Given the description of an element on the screen output the (x, y) to click on. 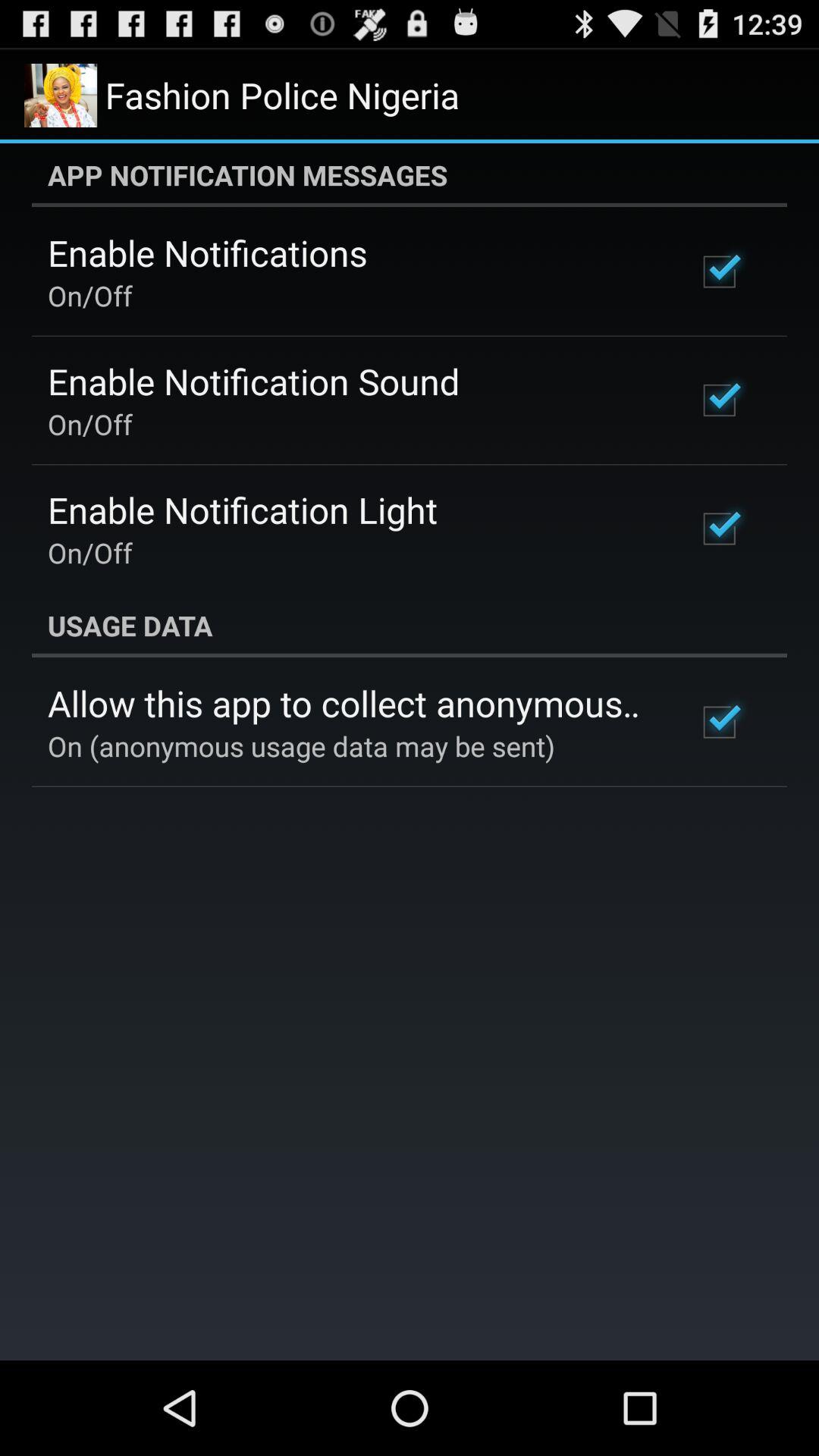
turn off the icon below app notification messages (207, 252)
